Given the description of an element on the screen output the (x, y) to click on. 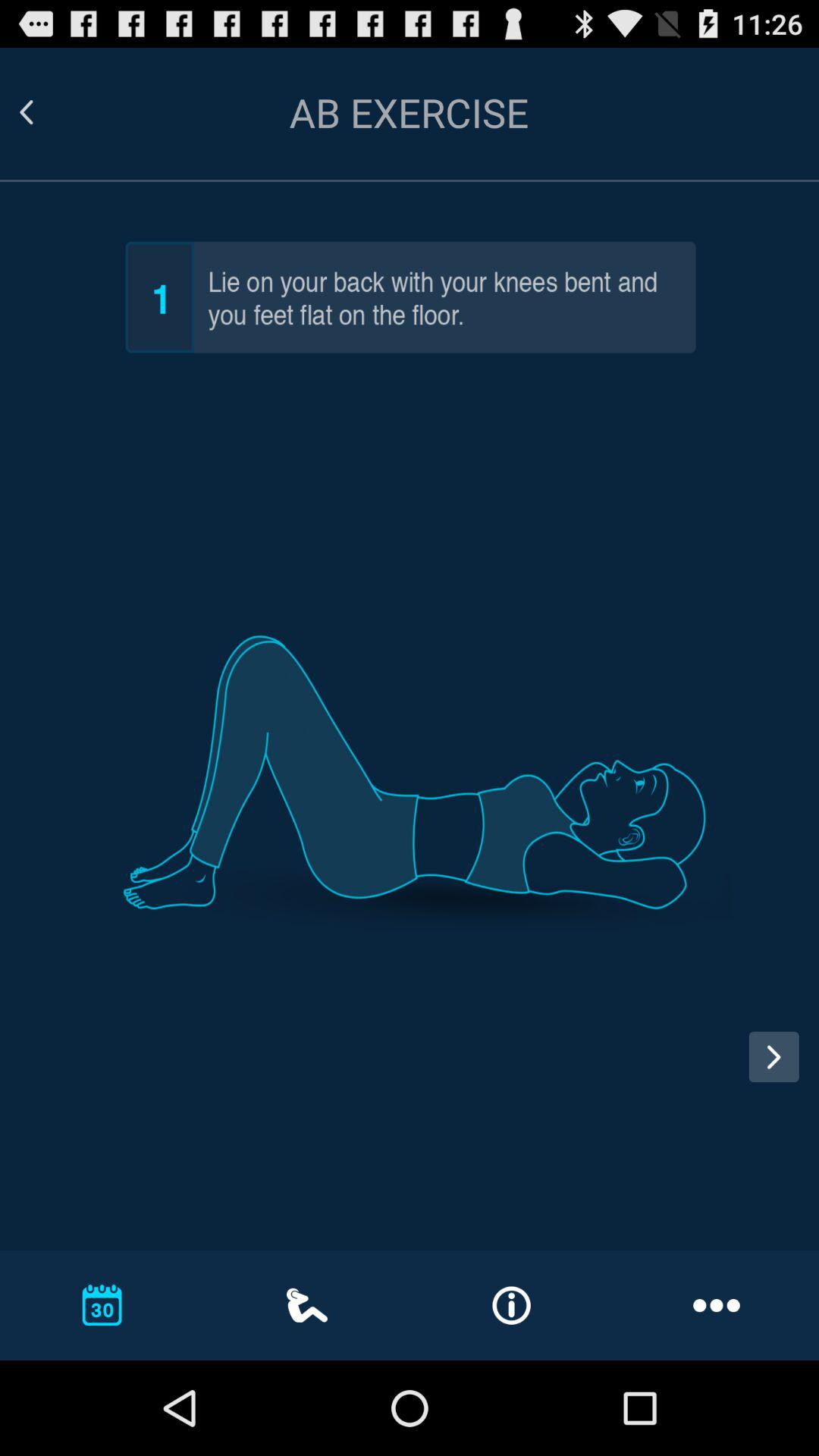
go to next step (779, 1071)
